Given the description of an element on the screen output the (x, y) to click on. 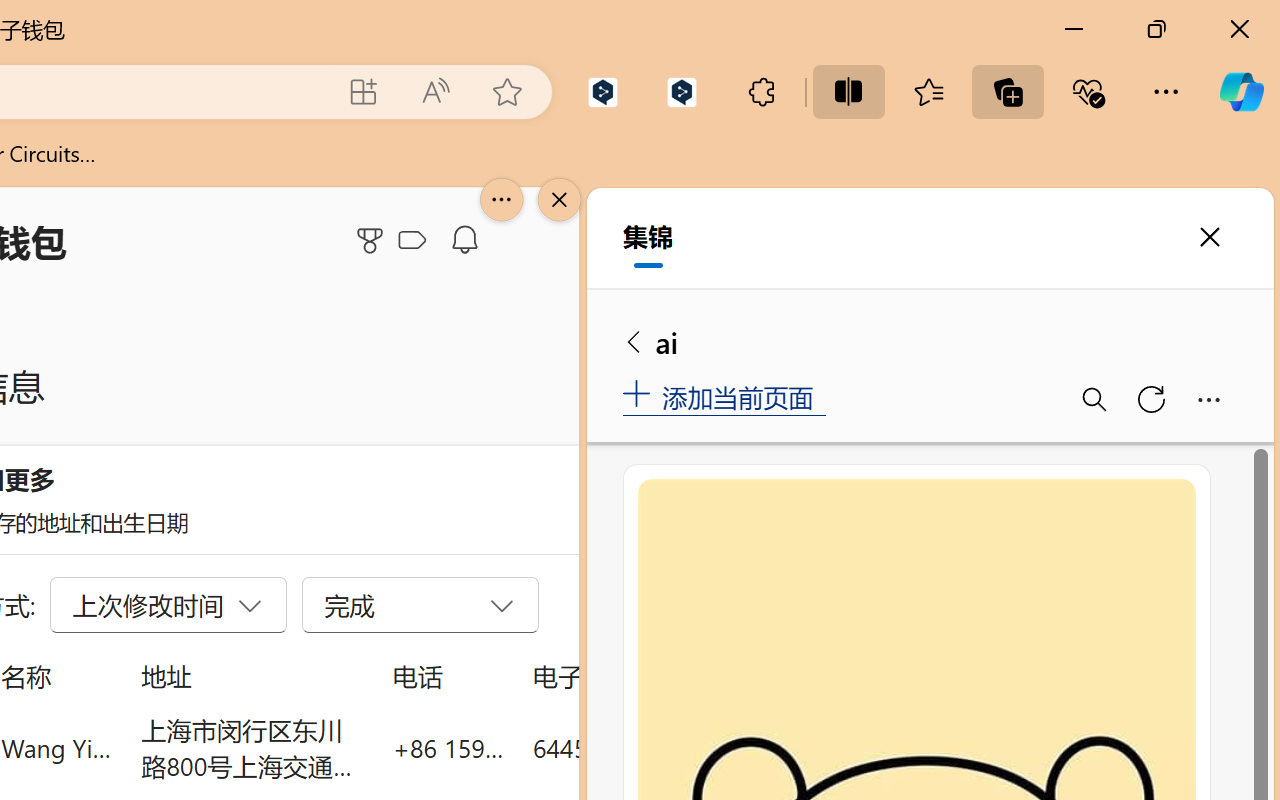
644553698@qq.com (644, 747)
Microsoft Rewards (373, 240)
Copilot (Ctrl+Shift+.) (1241, 91)
